Given the description of an element on the screen output the (x, y) to click on. 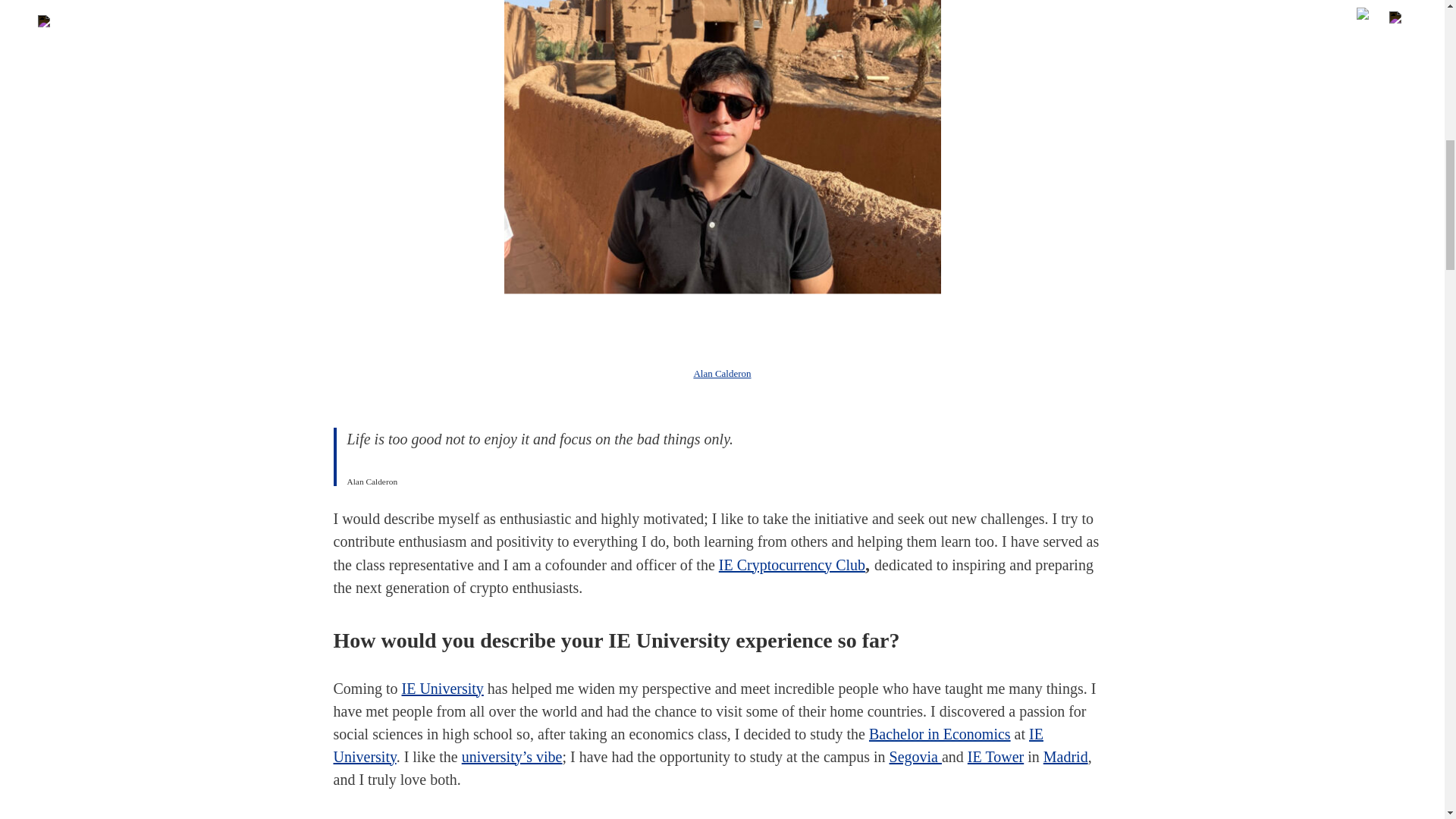
Madrid (1065, 755)
IE Cryptocurrency Club (791, 564)
Segovia (915, 755)
IE Tower (995, 755)
Bachelor in Economics (939, 733)
Alan Calderon (722, 372)
IE University (442, 687)
IE University (688, 744)
